Given the description of an element on the screen output the (x, y) to click on. 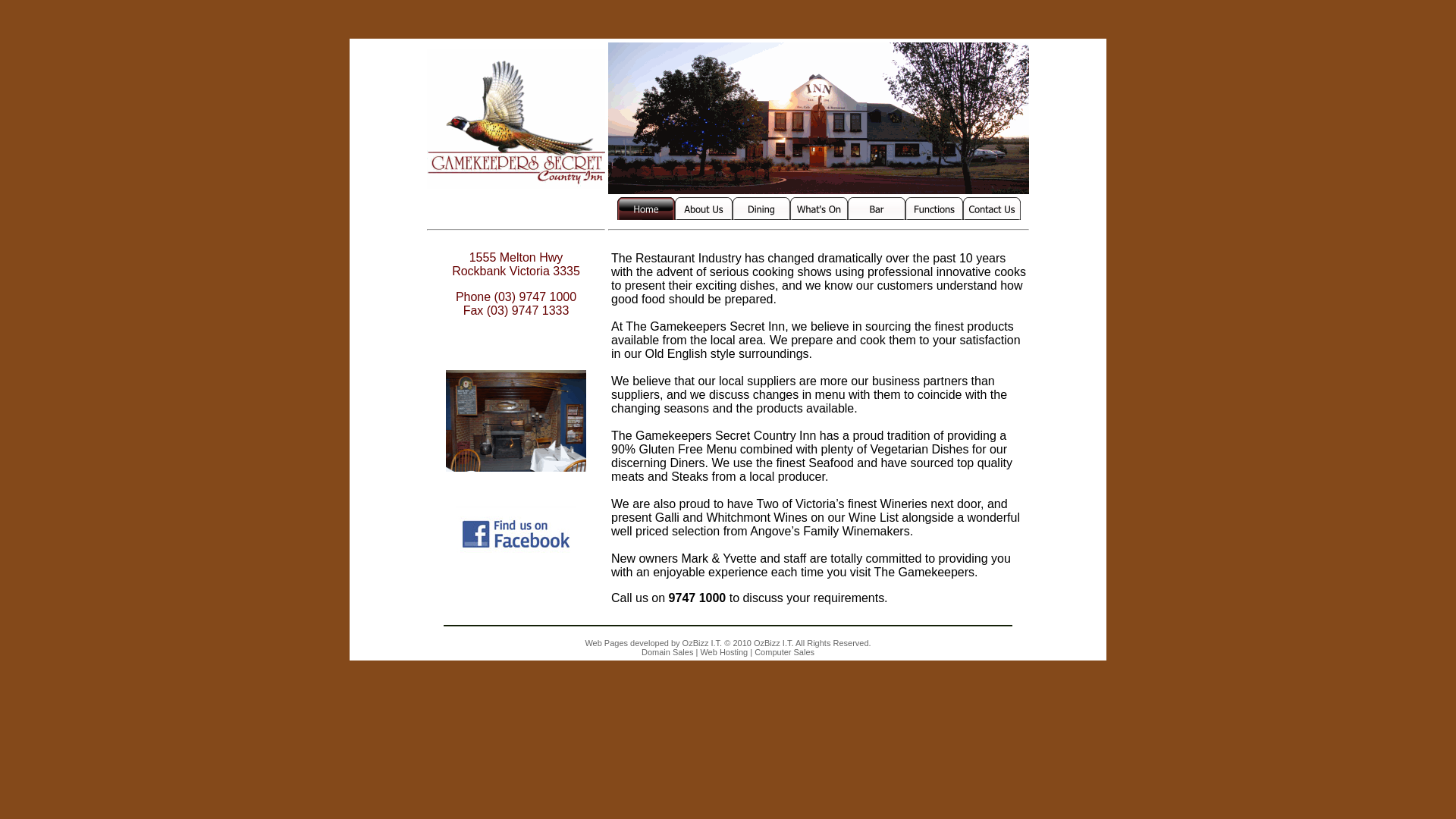
Computer Sales Element type: text (784, 651)
OzBizz I.T. Element type: text (701, 642)
Web Hosting Element type: text (723, 651)
Domain Sales Element type: text (667, 651)
